Given the description of an element on the screen output the (x, y) to click on. 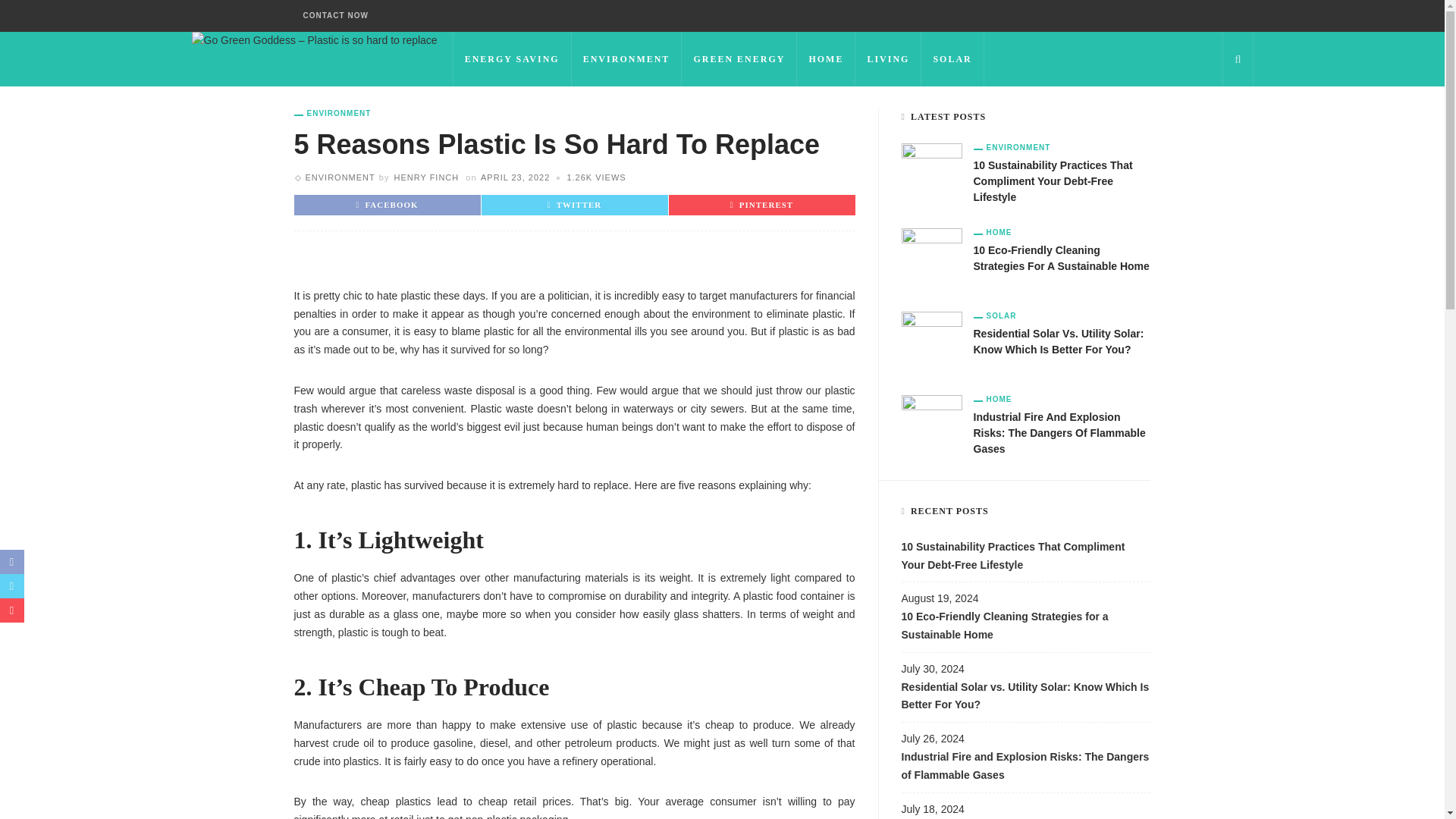
HOME (826, 58)
CONTACT NOW (335, 15)
Environment (332, 112)
1.26K VIEWS (596, 176)
Environment (339, 176)
5 Reasons Plastic Is So Hard to Replace (596, 176)
ENVIRONMENT (339, 176)
LIVING (888, 58)
ENERGY SAVING (512, 58)
FACEBOOK (386, 204)
